Given the description of an element on the screen output the (x, y) to click on. 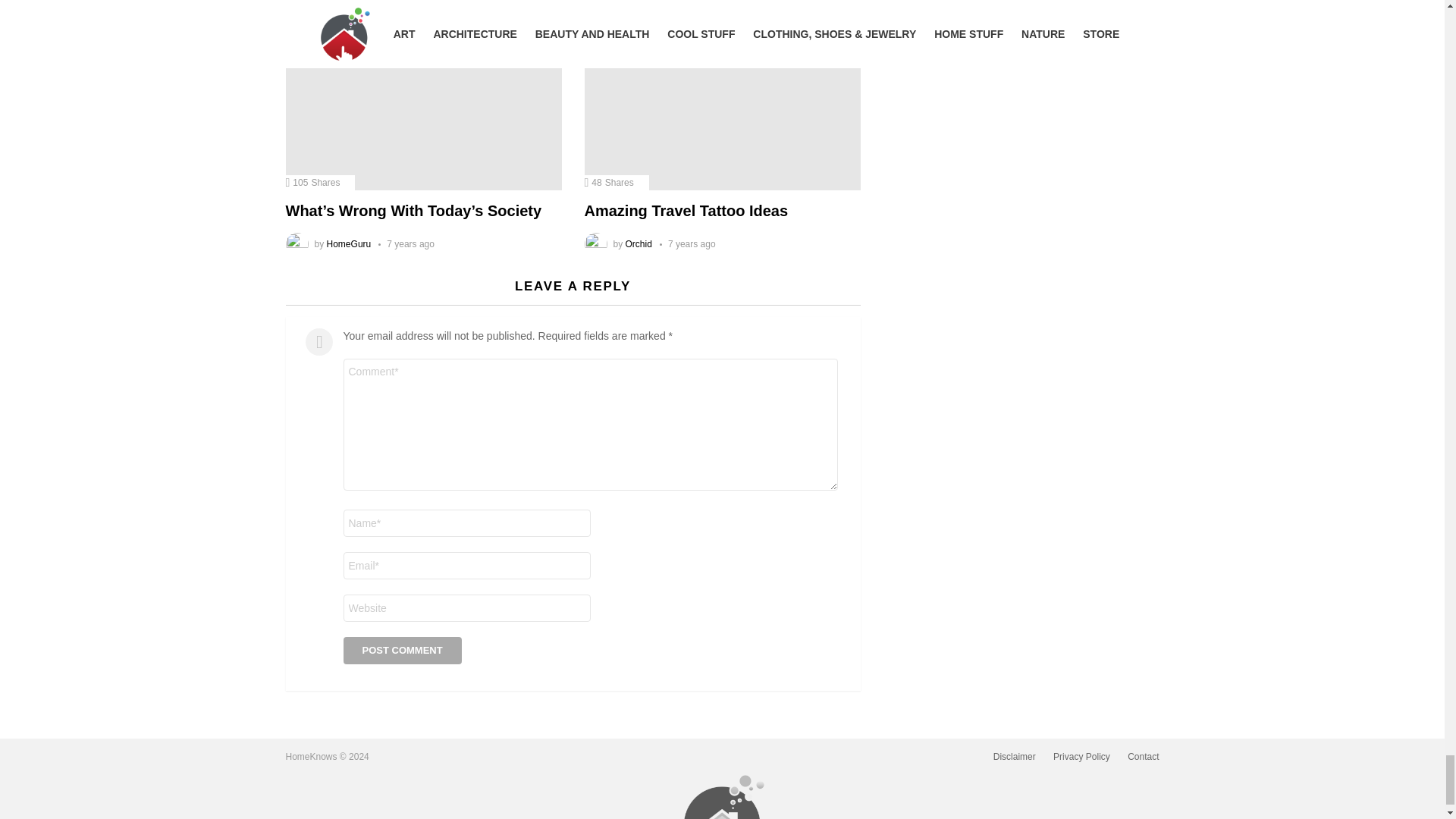
Post Comment (401, 650)
